Given the description of an element on the screen output the (x, y) to click on. 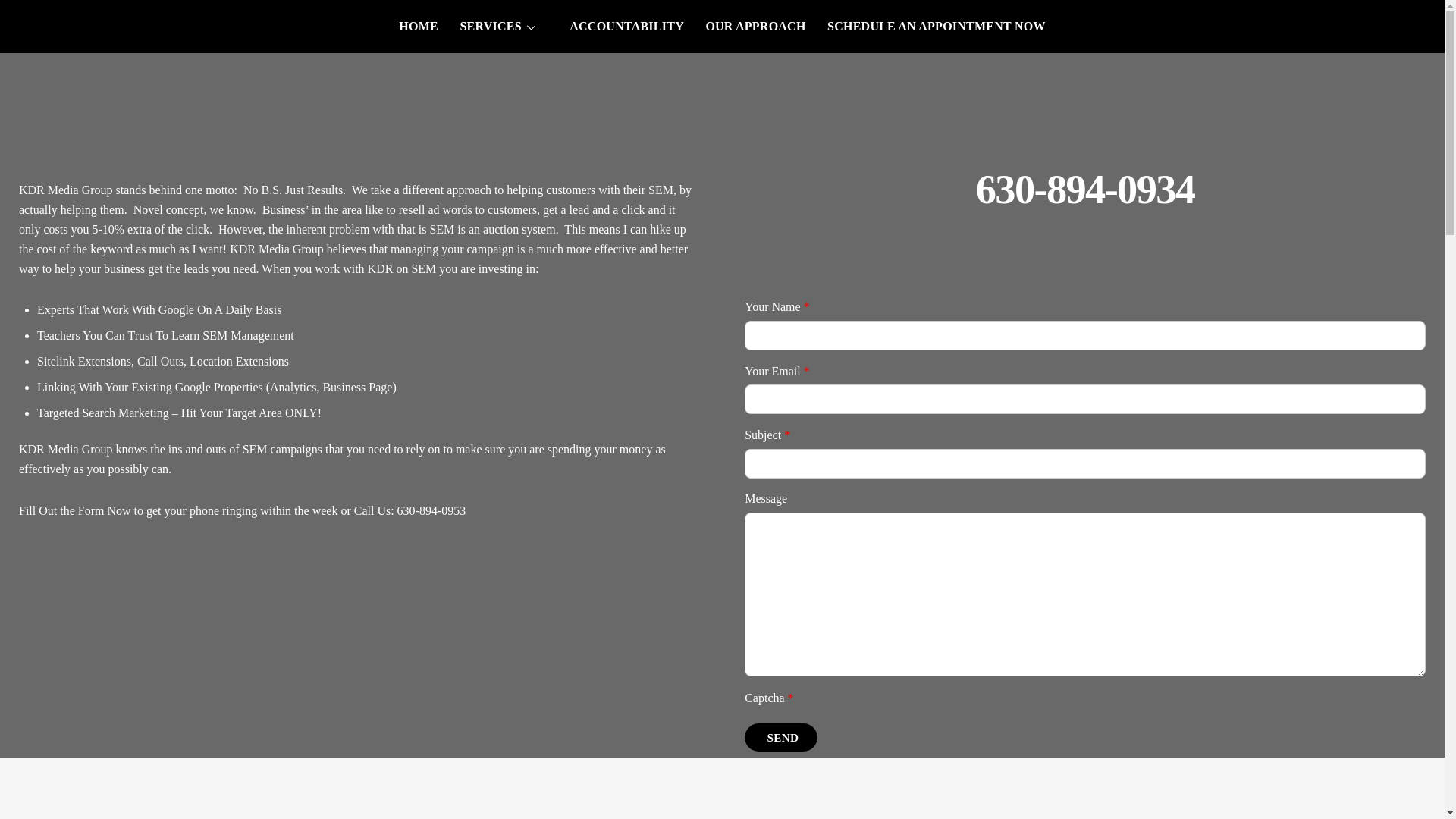
SCHEDULE AN APPOINTMENT NOW (936, 26)
SERVICES (503, 26)
SEND (780, 737)
ACCOUNTABILITY (626, 26)
OUR APPROACH (754, 26)
